Given the description of an element on the screen output the (x, y) to click on. 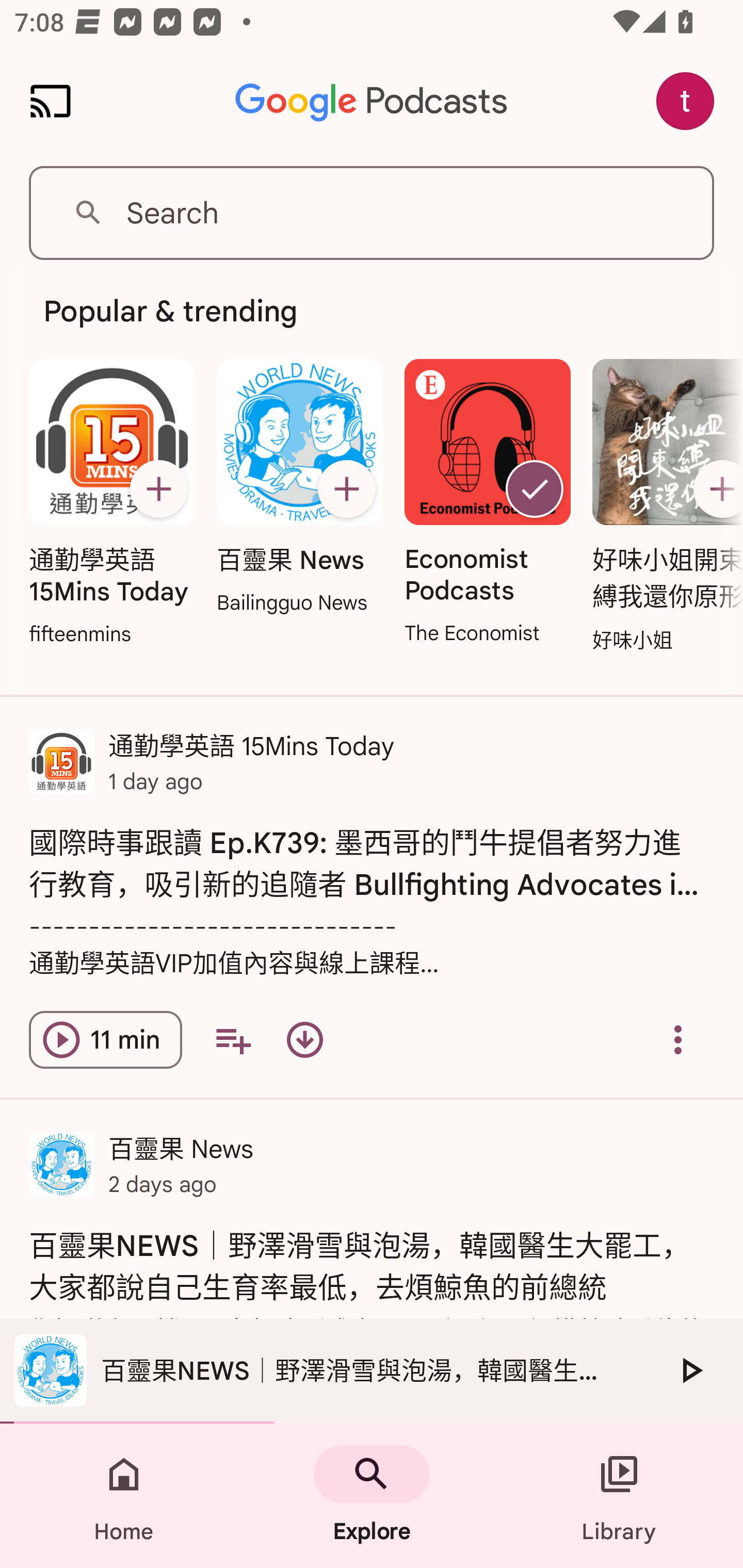
Cast. Disconnected (50, 101)
Search (371, 212)
百靈果 News Subscribe 百靈果 News Bailingguo News (299, 488)
好味小姐開束縛我還你原形 Subscribe 好味小姐開束縛我還你原形 好味小姐 (662, 507)
Subscribe (158, 489)
Subscribe (346, 489)
Unsubscribe (534, 489)
Subscribe (714, 489)
Add to your queue (232, 1040)
Download episode (304, 1040)
Overflow menu (677, 1040)
Play (690, 1370)
Home (123, 1495)
Library (619, 1495)
